Given the description of an element on the screen output the (x, y) to click on. 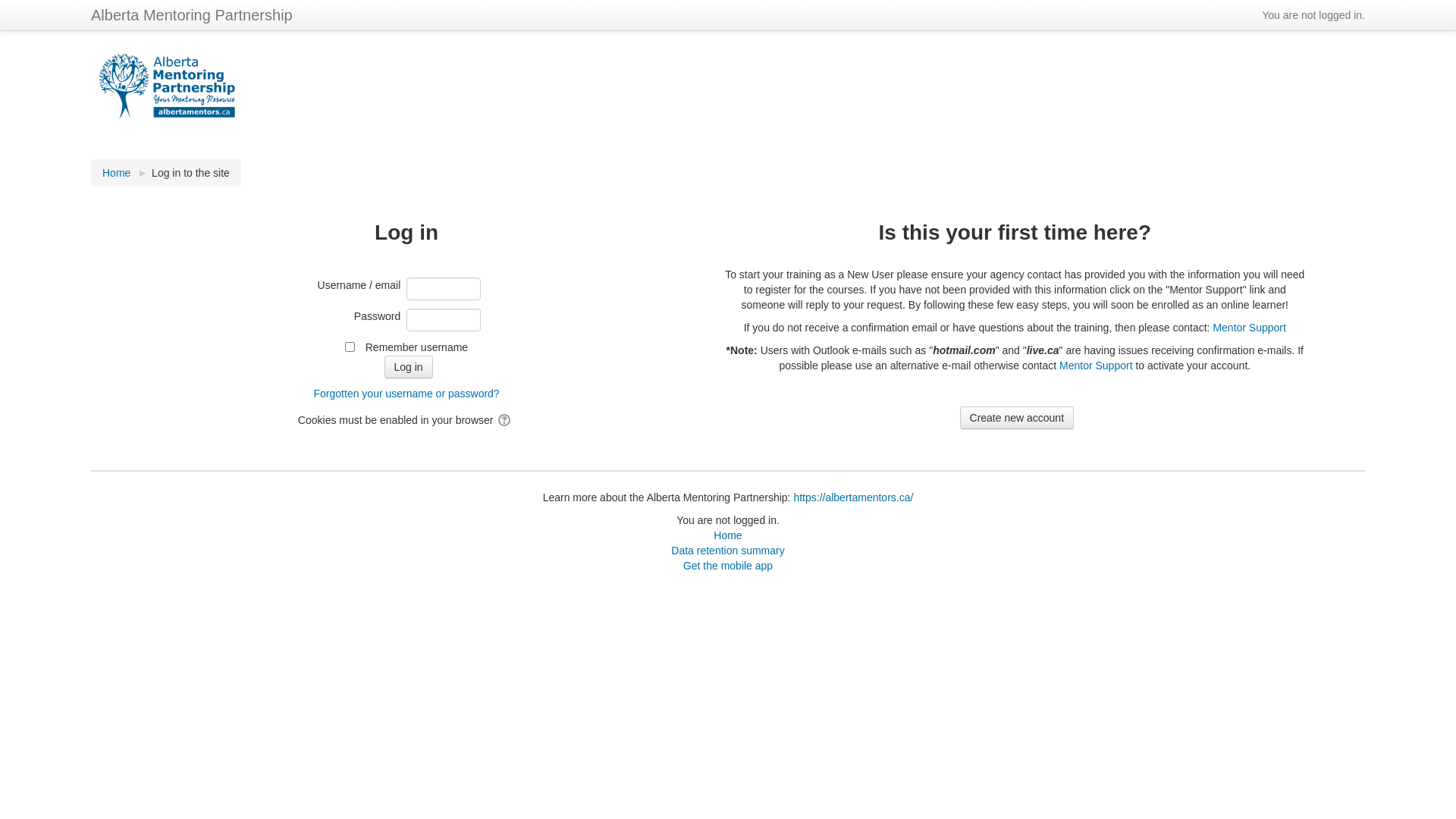
Help with Cookies must be enabled in your browser Element type: hover (504, 420)
Get the mobile app Element type: text (727, 565)
Mentor Support Element type: text (1249, 327)
Alberta Mentoring Partnership Element type: text (191, 15)
Data retention summary Element type: text (727, 550)
https://albertamentors.ca/ Element type: text (853, 497)
Home Element type: text (727, 535)
Home Element type: text (116, 172)
Log in Element type: text (408, 366)
Mentor Support Element type: text (1095, 365)
Forgotten your username or password? Element type: text (406, 393)
Create new account Element type: text (1017, 417)
